Given the description of an element on the screen output the (x, y) to click on. 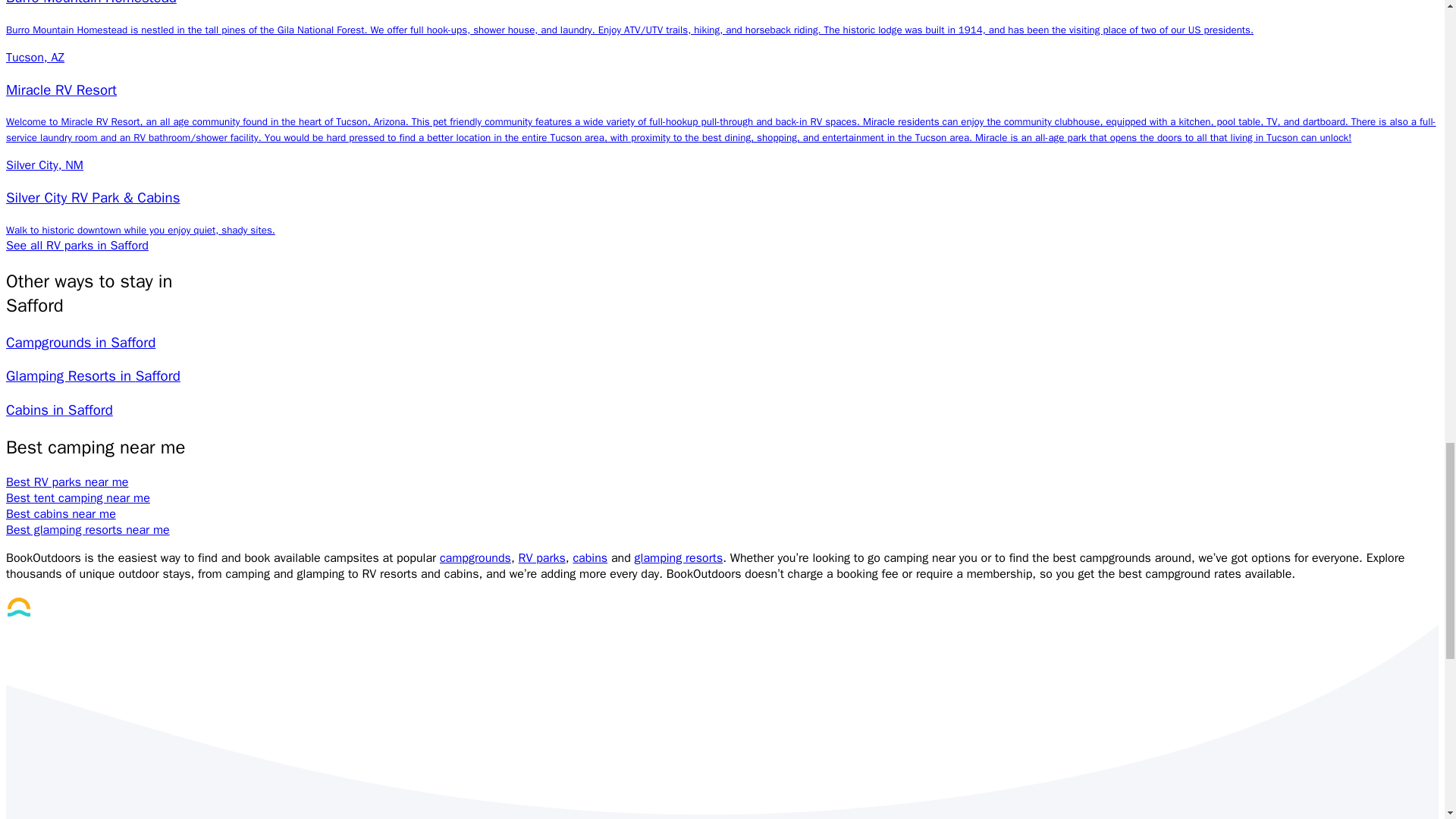
RV parks (541, 557)
Best cabins near me (60, 513)
campgrounds (475, 557)
Best RV parks near me (66, 482)
Best tent camping near me (77, 498)
glamping resorts (678, 557)
cabins (589, 557)
See all RV parks in Safford (76, 245)
Best glamping resorts near me (87, 529)
